Given the description of an element on the screen output the (x, y) to click on. 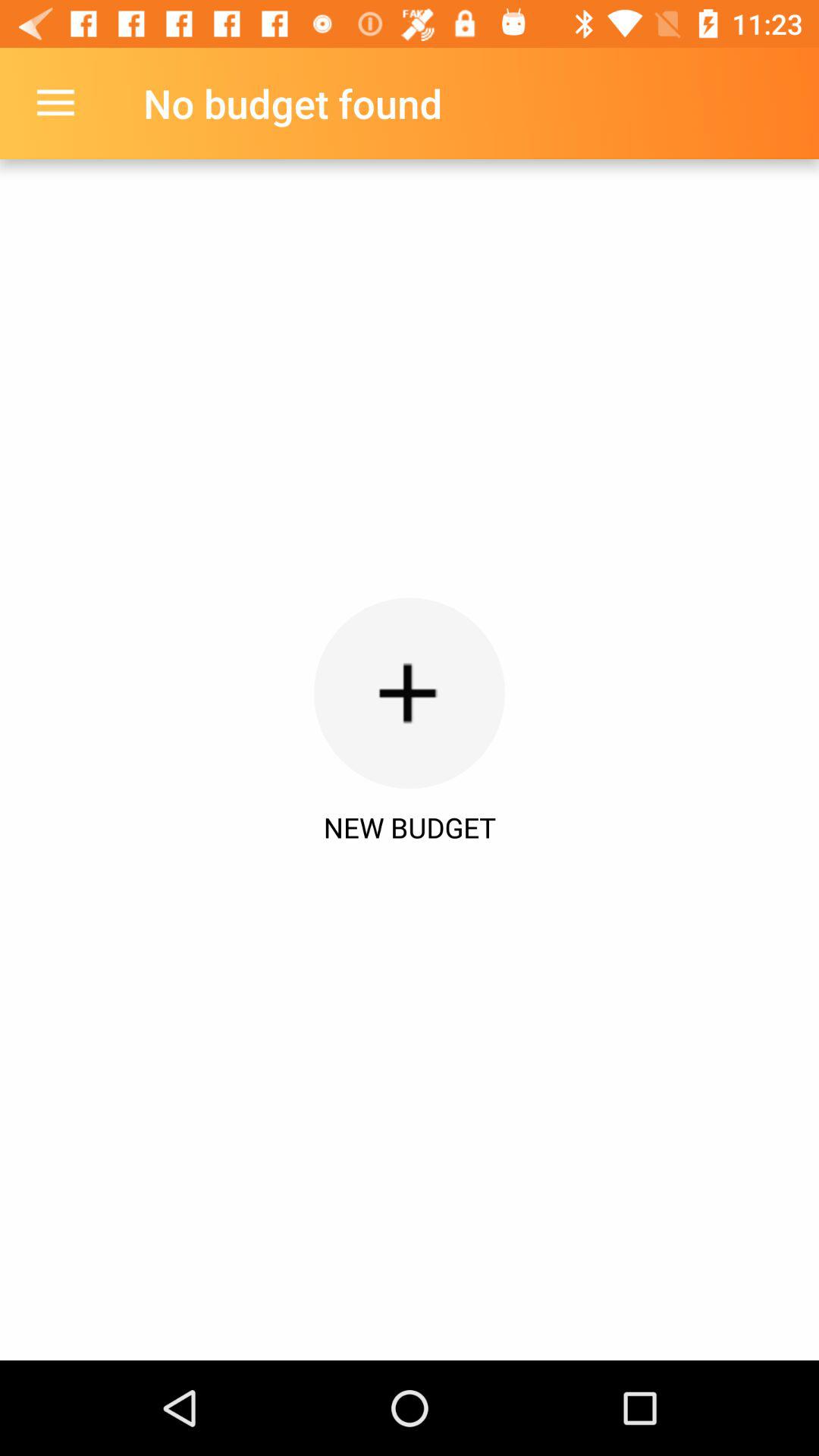
launch item at the top left corner (55, 103)
